Given the description of an element on the screen output the (x, y) to click on. 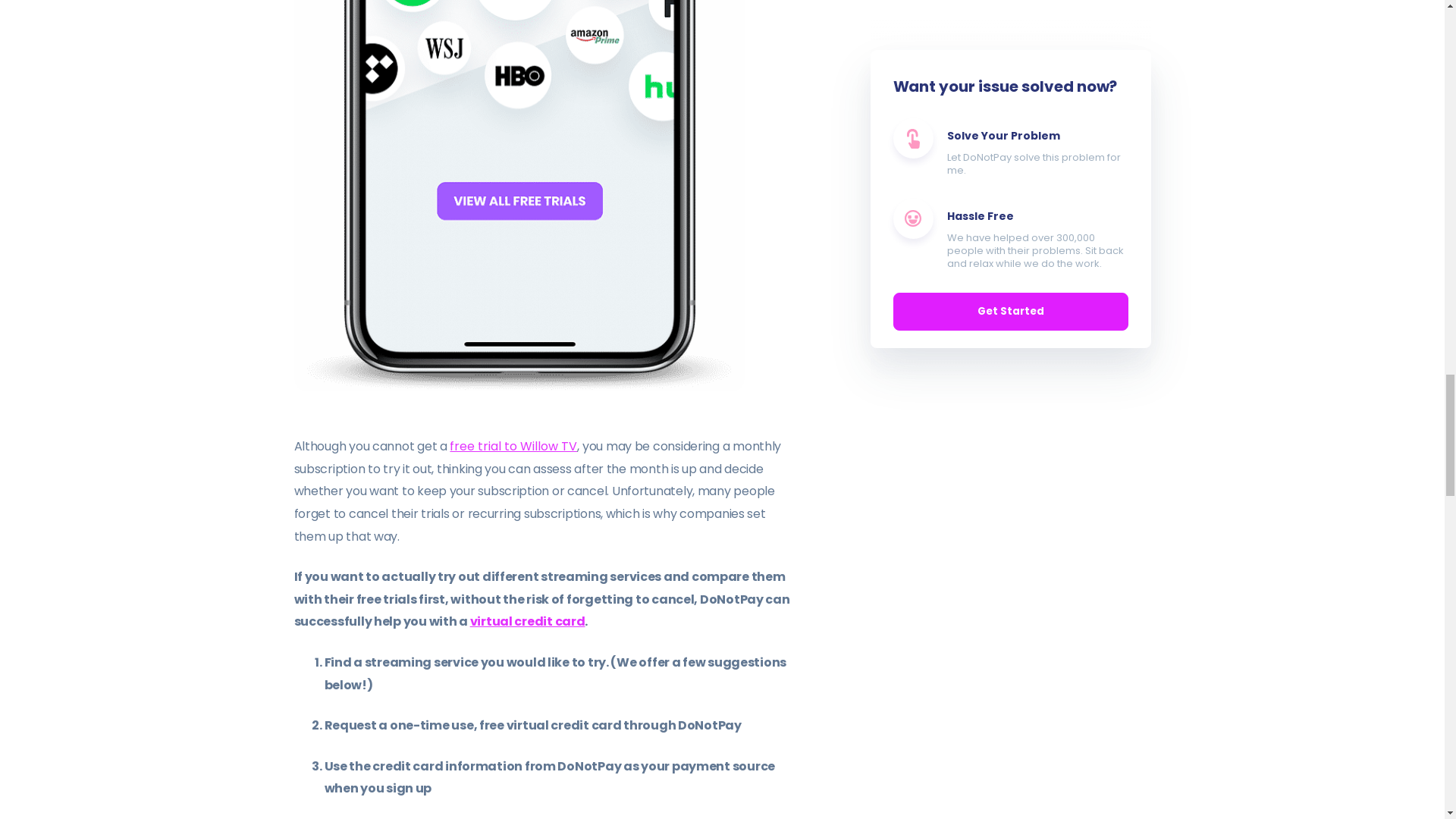
virtual credit card (527, 620)
free trial to Willow TV (512, 445)
